Given the description of an element on the screen output the (x, y) to click on. 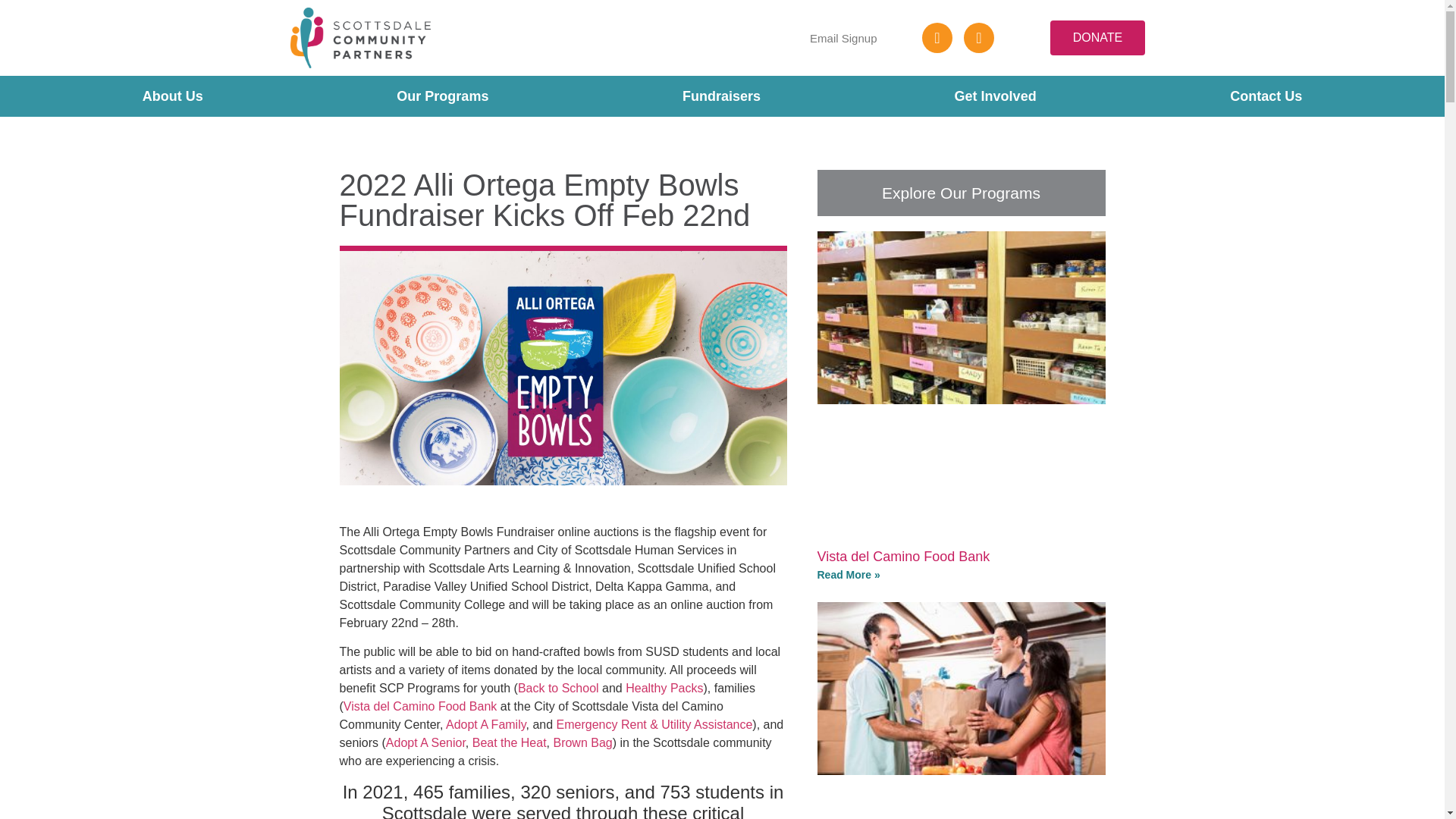
Email Signup (843, 37)
Get Involved (995, 96)
About Us (172, 96)
DONATE (1096, 37)
Our Programs (442, 96)
Fundraisers (721, 96)
